Given the description of an element on the screen output the (x, y) to click on. 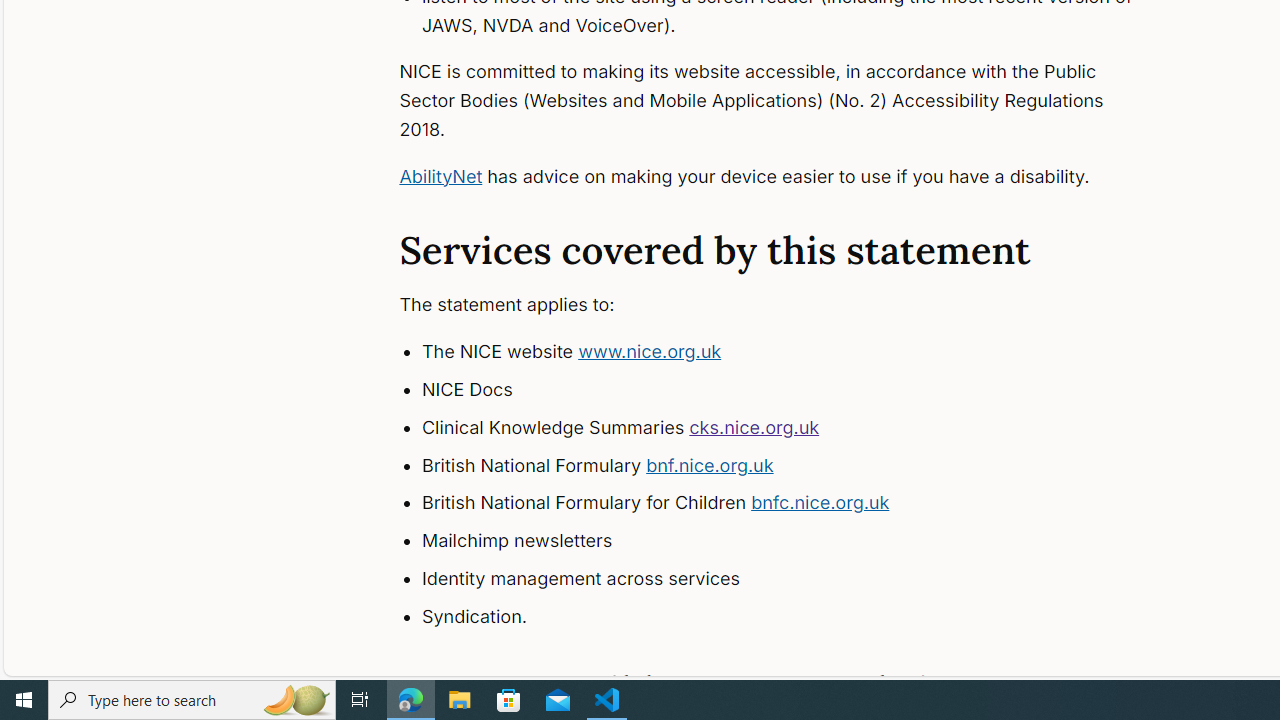
cks.nice.org.uk (754, 426)
Identity management across services (796, 578)
Mailchimp newsletters (796, 541)
AbilityNet (440, 175)
British National Formulary for Children bnfc.nice.org.uk (796, 503)
British National Formulary bnf.nice.org.uk (796, 465)
NICE Docs (796, 389)
The NICE website www.nice.org.uk (796, 352)
Syndication. (796, 616)
bnfc.nice.org.uk (820, 502)
bnf.nice.org.uk (710, 464)
Clinical Knowledge Summaries cks.nice.org.uk (796, 427)
www.nice.org.uk (649, 351)
